Given the description of an element on the screen output the (x, y) to click on. 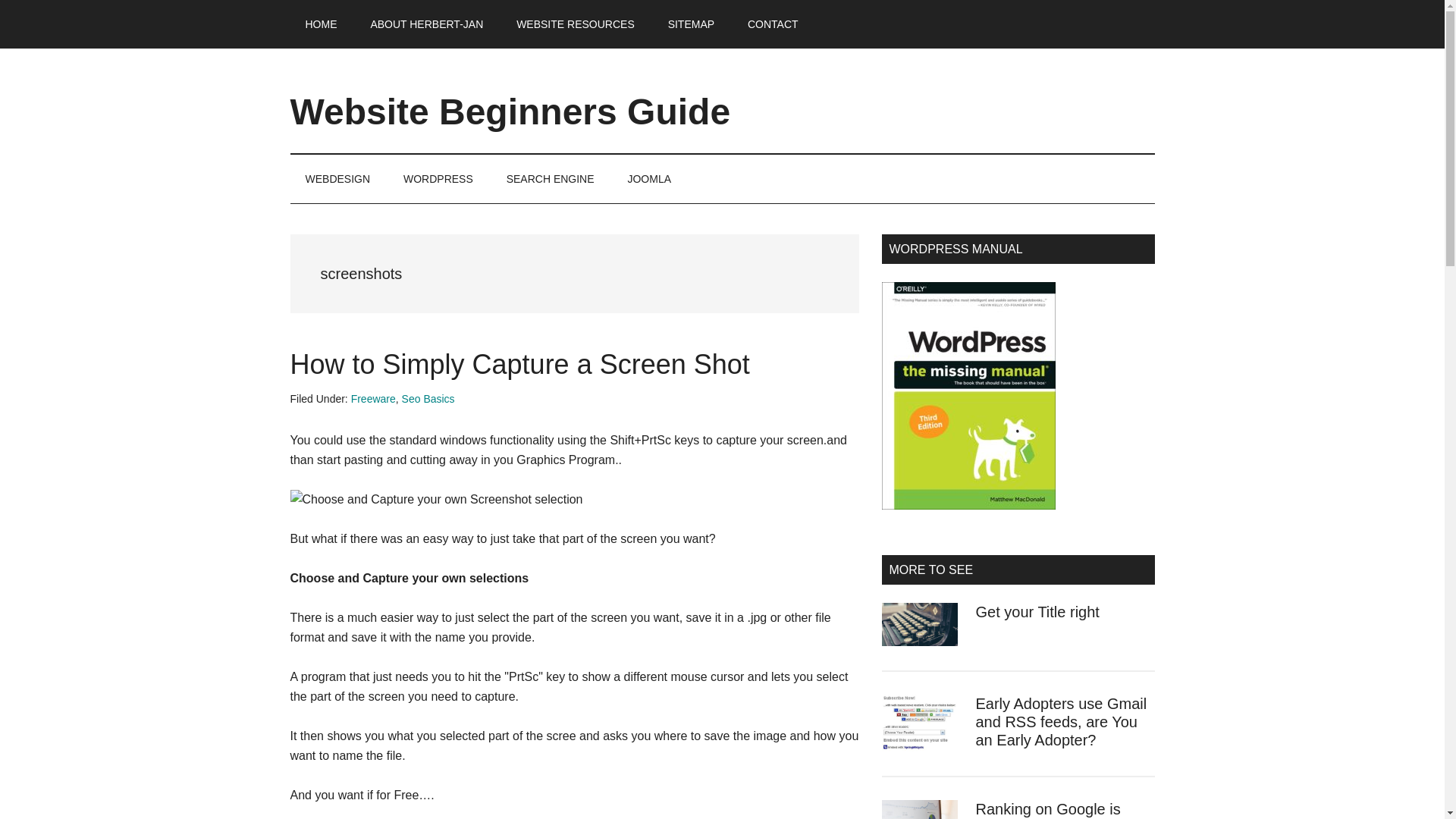
Choose and Capture your own Screenshot selection (435, 499)
ABOUT HERBERT-JAN (426, 24)
WORDPRESS (437, 178)
CONTACT (772, 24)
Website Beginners Guide (509, 111)
How to Simply Capture a Screen Shot (519, 364)
JOOMLA (648, 178)
SITEMAP (690, 24)
WEBSITE RESOURCES (574, 24)
HOME (320, 24)
Freeware (373, 398)
Best Resources to Start Your Website! (574, 24)
SEARCH ENGINE (551, 178)
WEBDESIGN (337, 178)
